Given the description of an element on the screen output the (x, y) to click on. 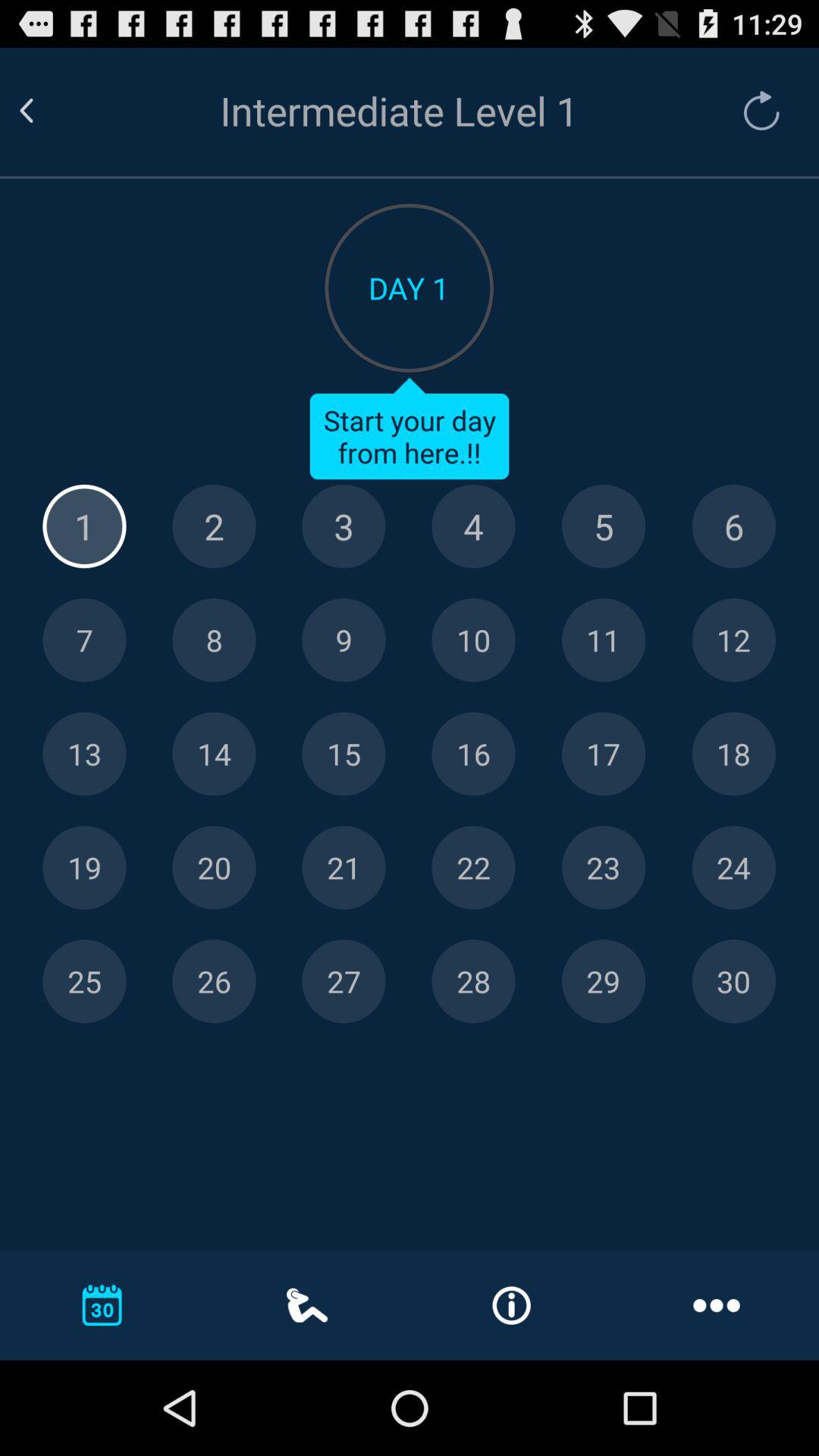
enter 29 as the date (603, 981)
